Given the description of an element on the screen output the (x, y) to click on. 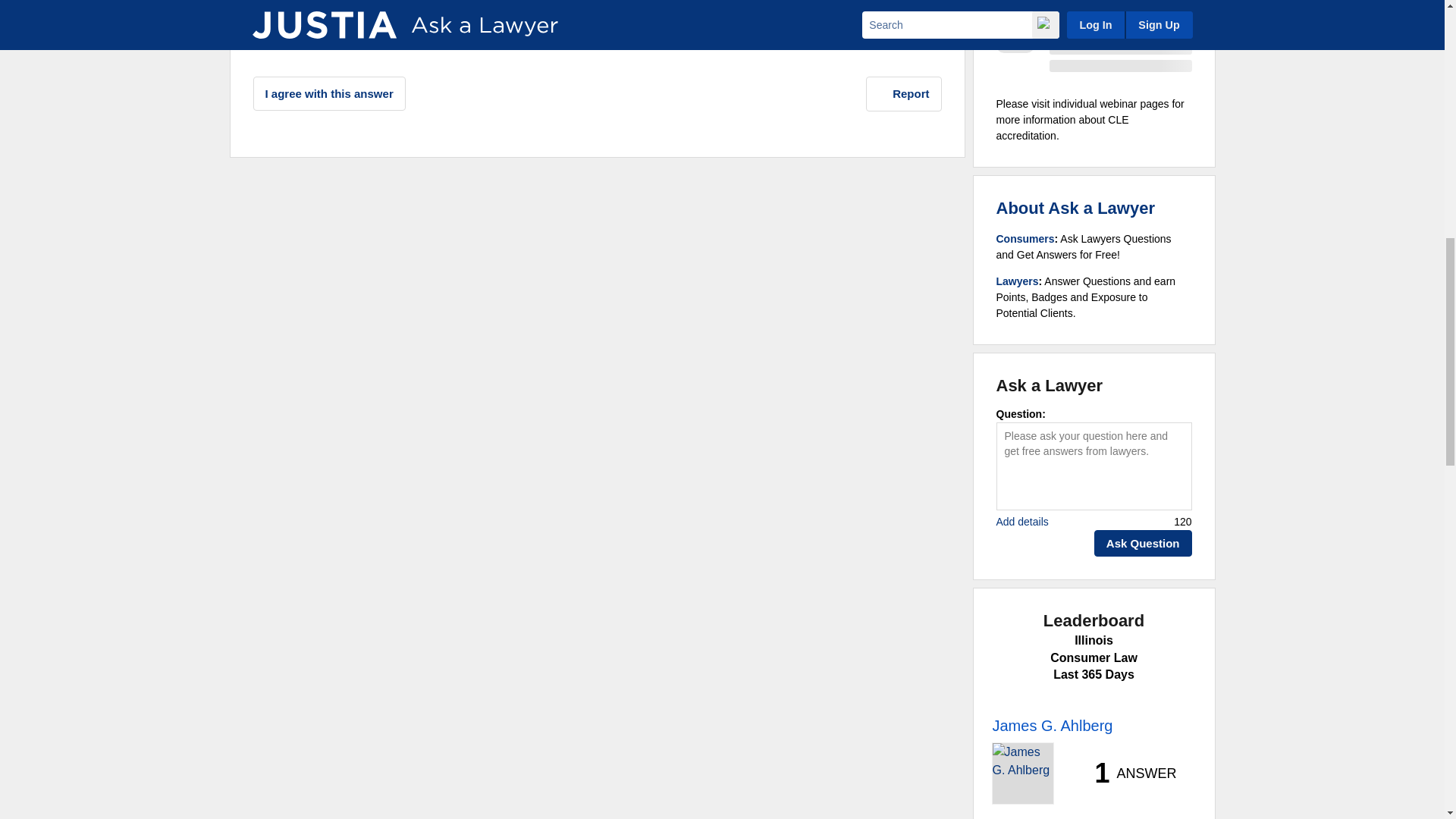
Ask a Lawyer - Leaderboard - Lawyer Stats (1127, 773)
Ask a Lawyer - FAQs - Consumers (1024, 238)
Ask a Lawyer - FAQs - Lawyers (1017, 281)
Ask a Lawyer - Leaderboard - Lawyer Photo (1021, 772)
Ask a Lawyer - Leaderboard - Lawyer Name (1051, 725)
